Given the description of an element on the screen output the (x, y) to click on. 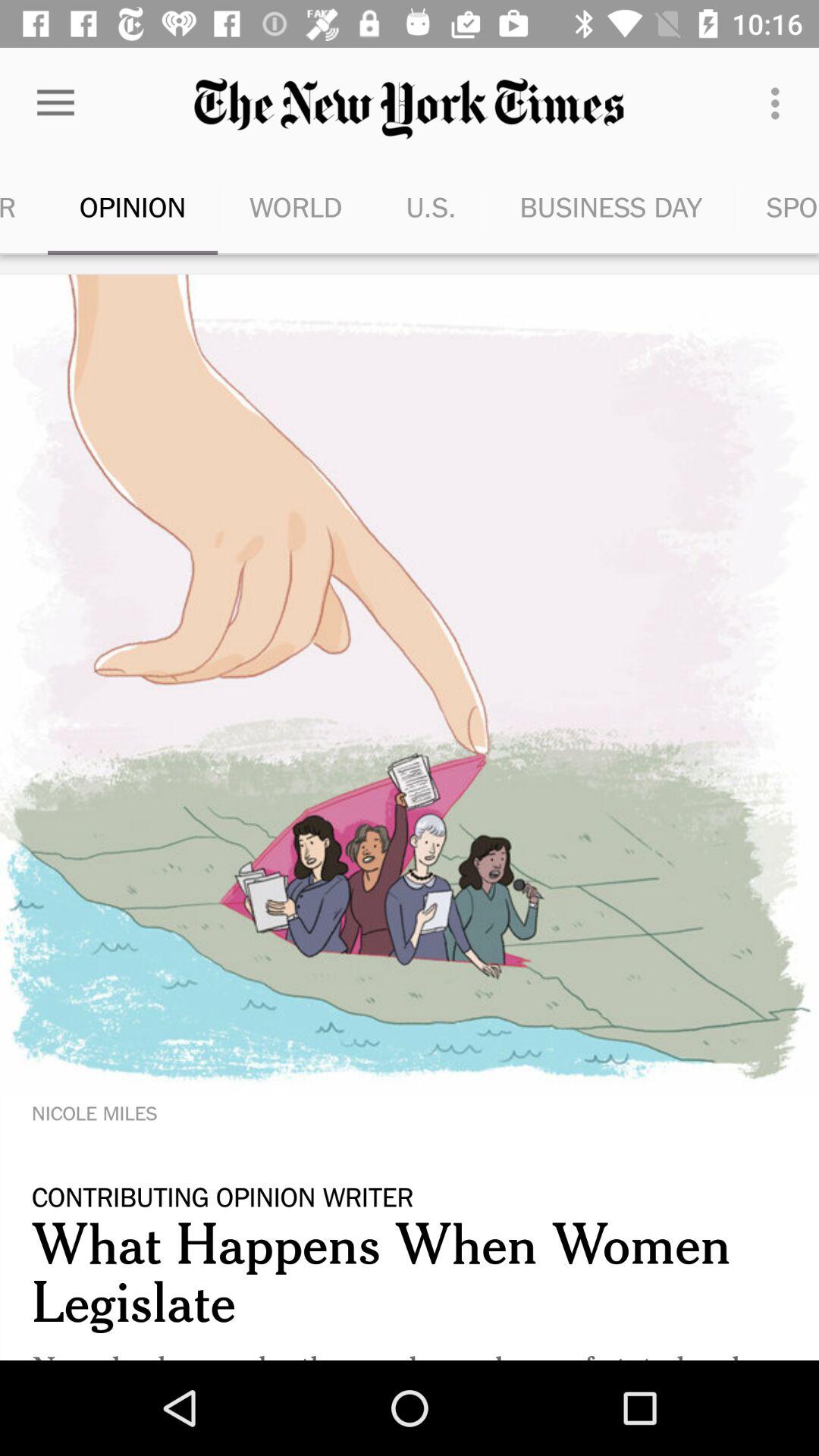
flip until the world (295, 206)
